Given the description of an element on the screen output the (x, y) to click on. 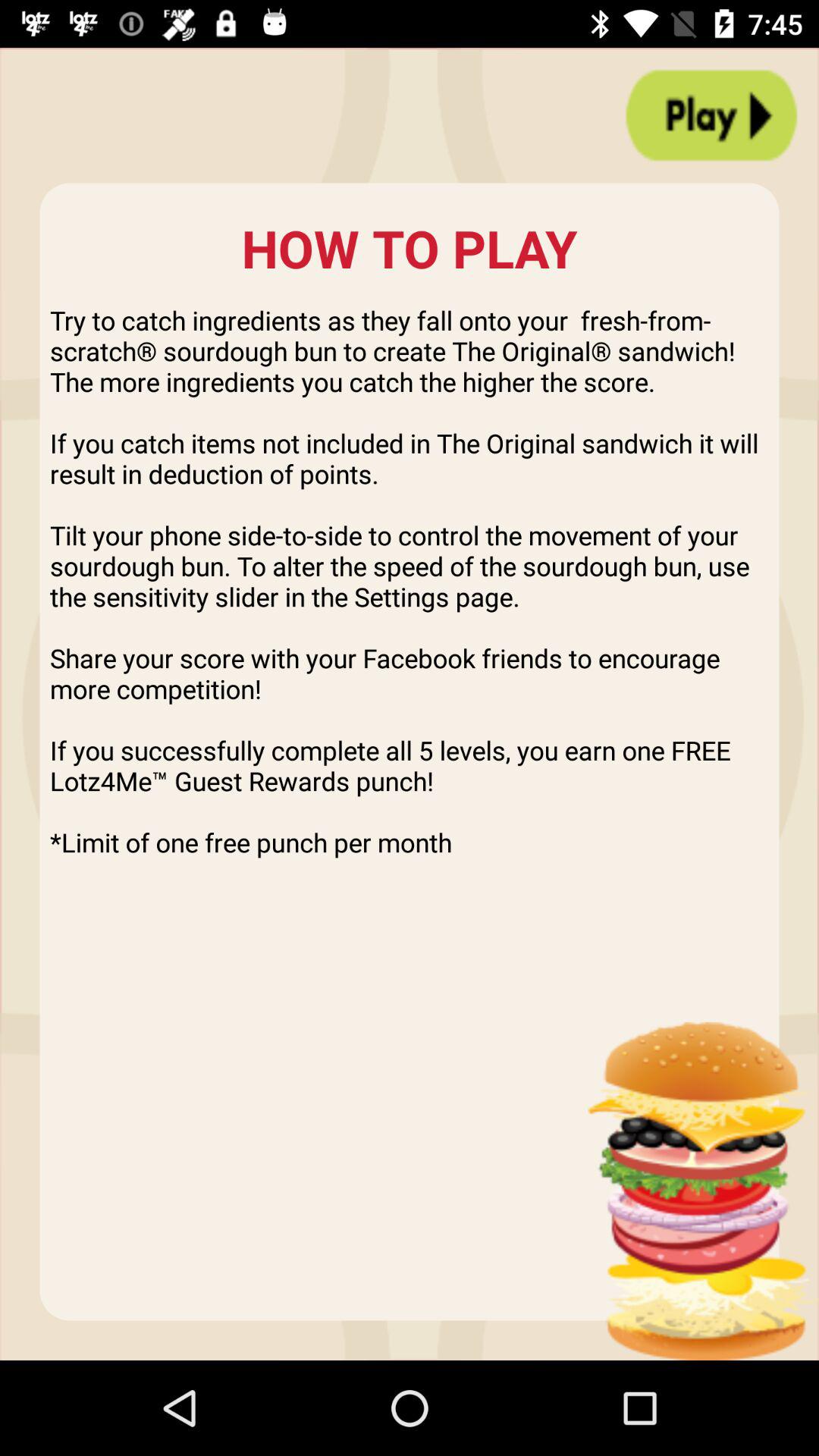
start playing (711, 115)
